Given the description of an element on the screen output the (x, y) to click on. 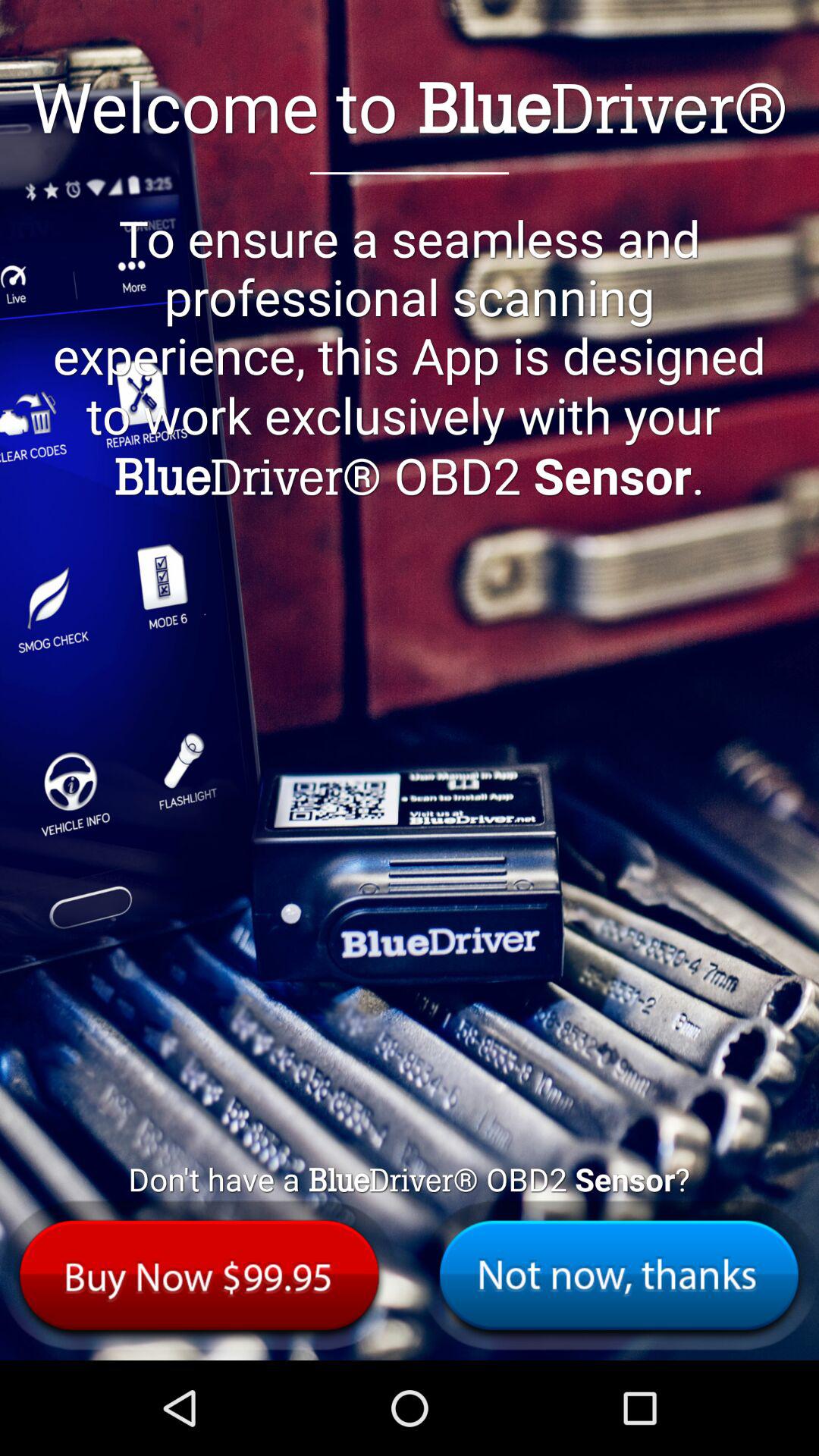
buy now (199, 1275)
